Given the description of an element on the screen output the (x, y) to click on. 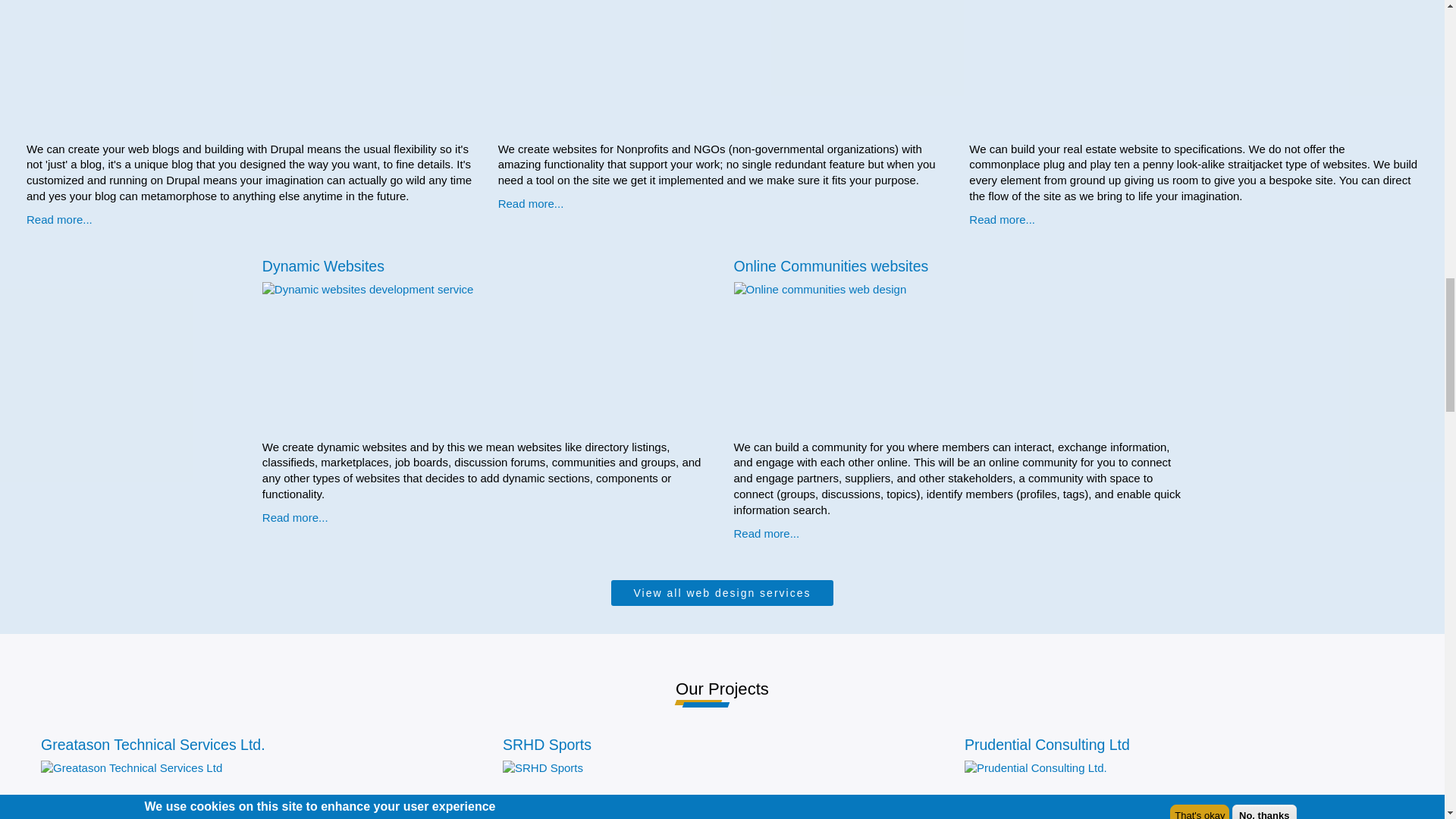
Real Estate websites development service (1151, 67)
Dynamic websites development service (444, 357)
Nonprofit and NGO website development service (679, 67)
Online communities web design (915, 357)
Blog Web Design and Development services (208, 67)
